Given the description of an element on the screen output the (x, y) to click on. 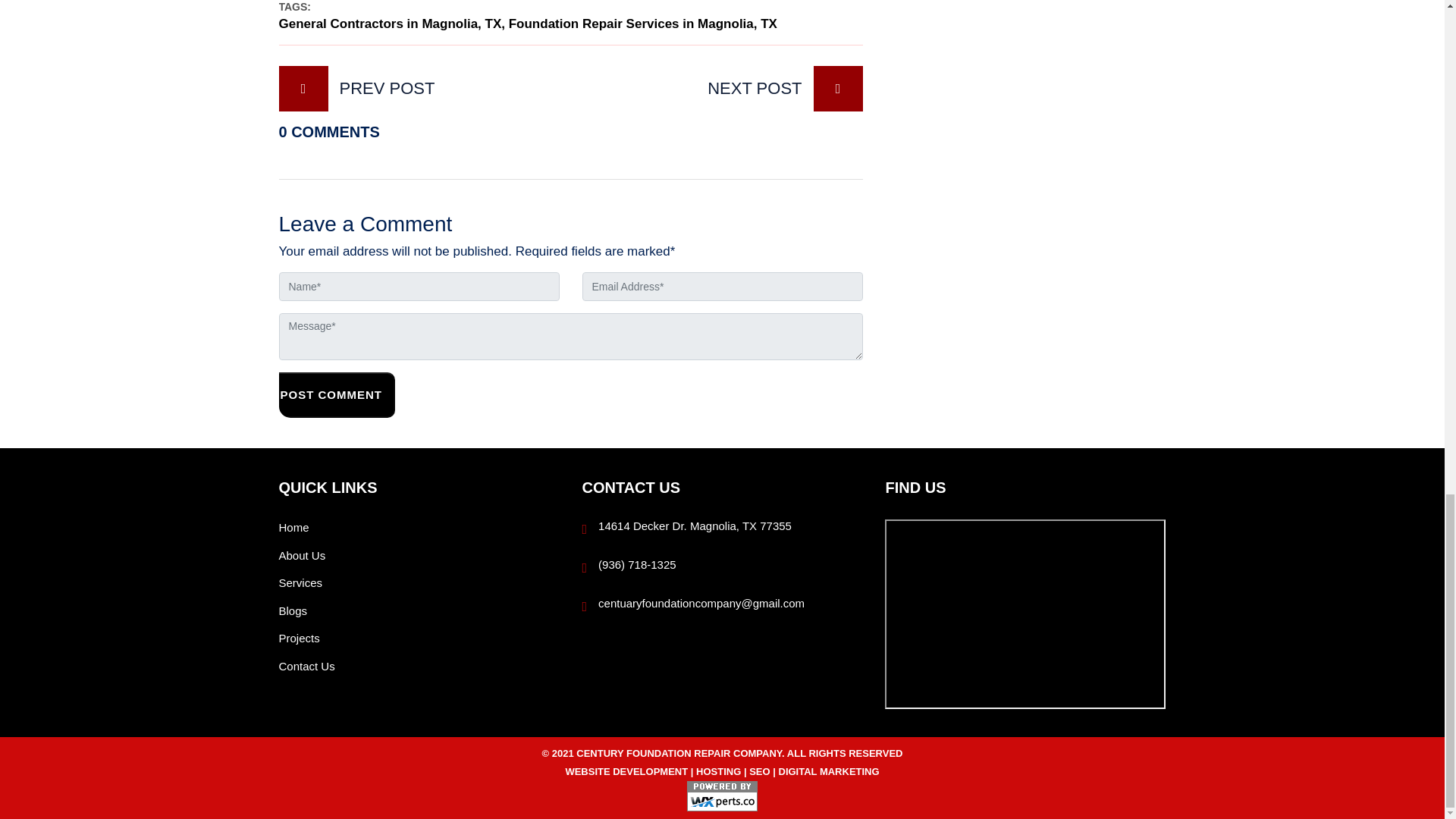
PREV POST (413, 88)
Home (293, 526)
NEXT POST (726, 88)
Services (301, 582)
POST COMMENT (330, 394)
About Us (302, 554)
